Given the description of an element on the screen output the (x, y) to click on. 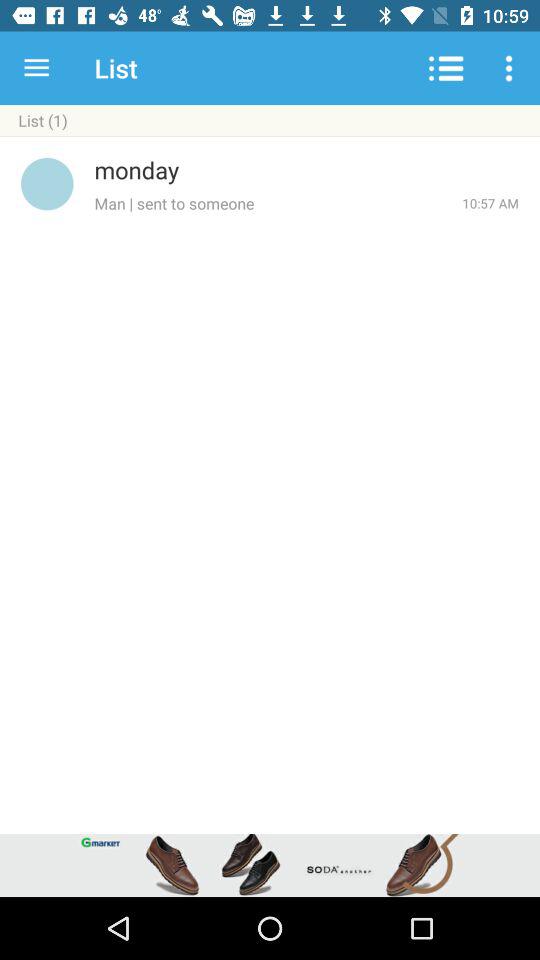
scroll until man sent to item (278, 203)
